Given the description of an element on the screen output the (x, y) to click on. 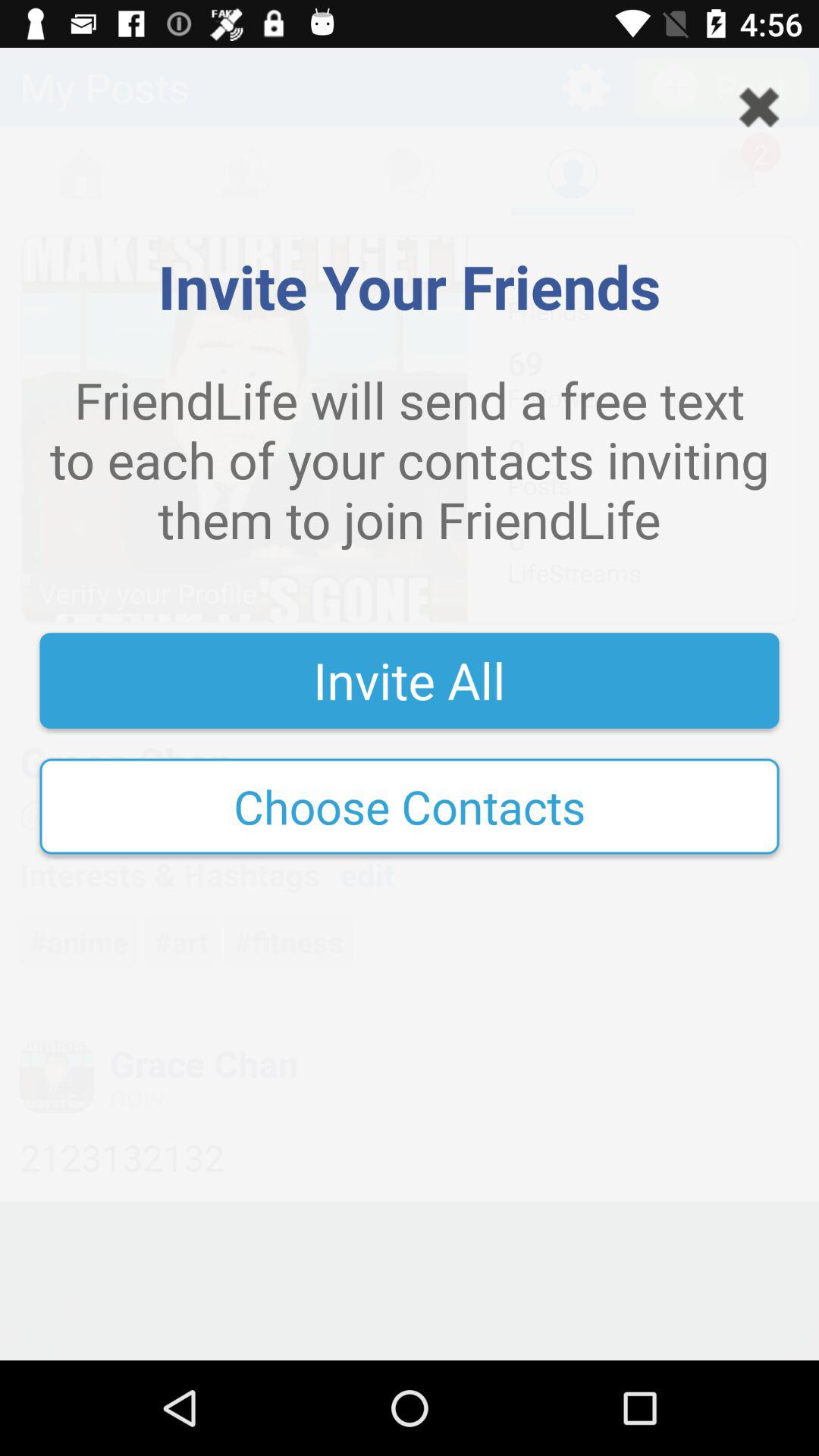
press icon above the choose contacts icon (409, 680)
